Given the description of an element on the screen output the (x, y) to click on. 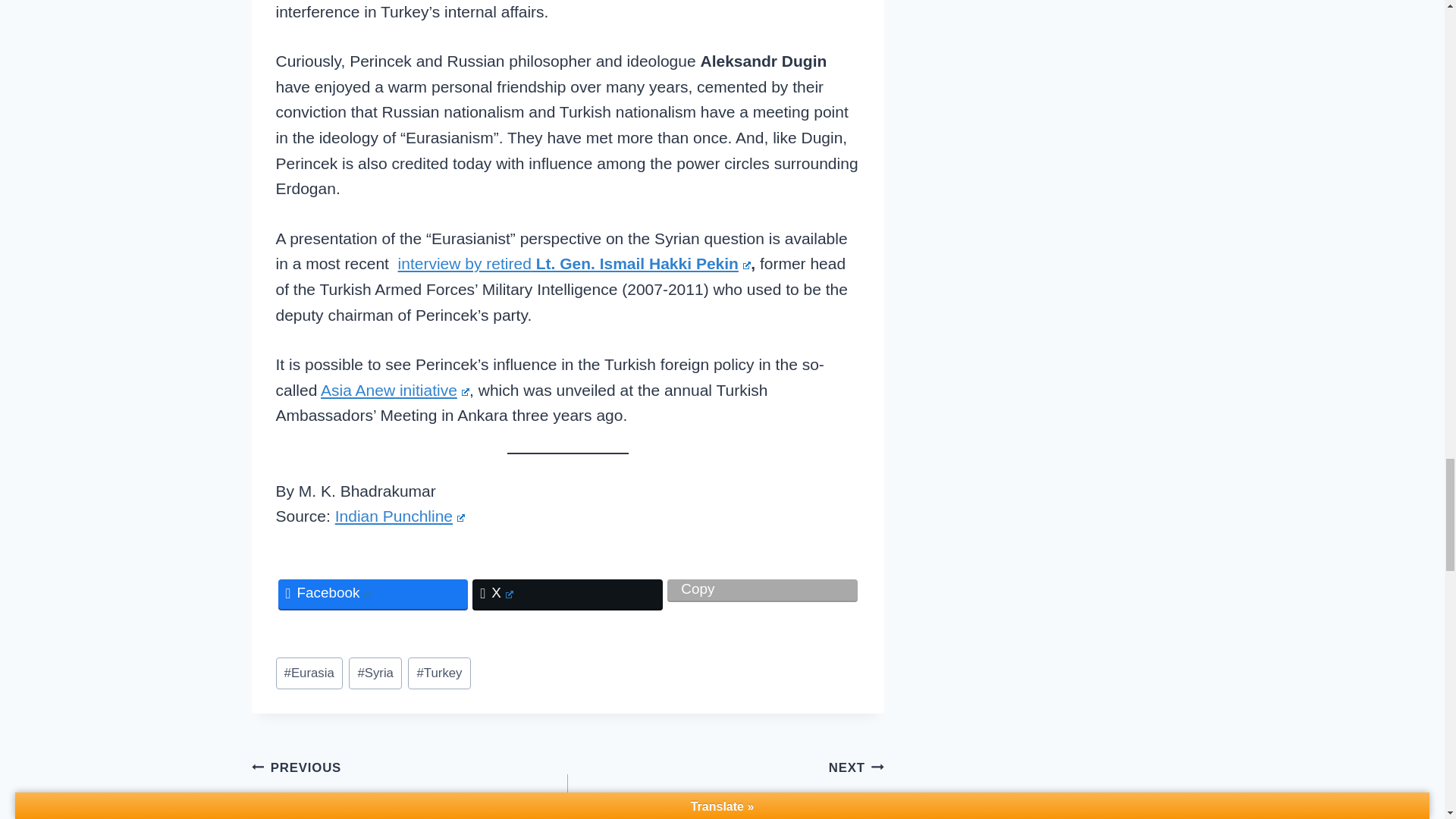
Facebook (372, 594)
Copy (761, 589)
interview by retired Lt. Gen. Ismail Hakki Pekin (574, 262)
Indian Punchline (399, 515)
Asia Anew initiative (394, 389)
Eurasia (309, 673)
X (566, 594)
Turkey (438, 673)
Syria (375, 673)
